Given the description of an element on the screen output the (x, y) to click on. 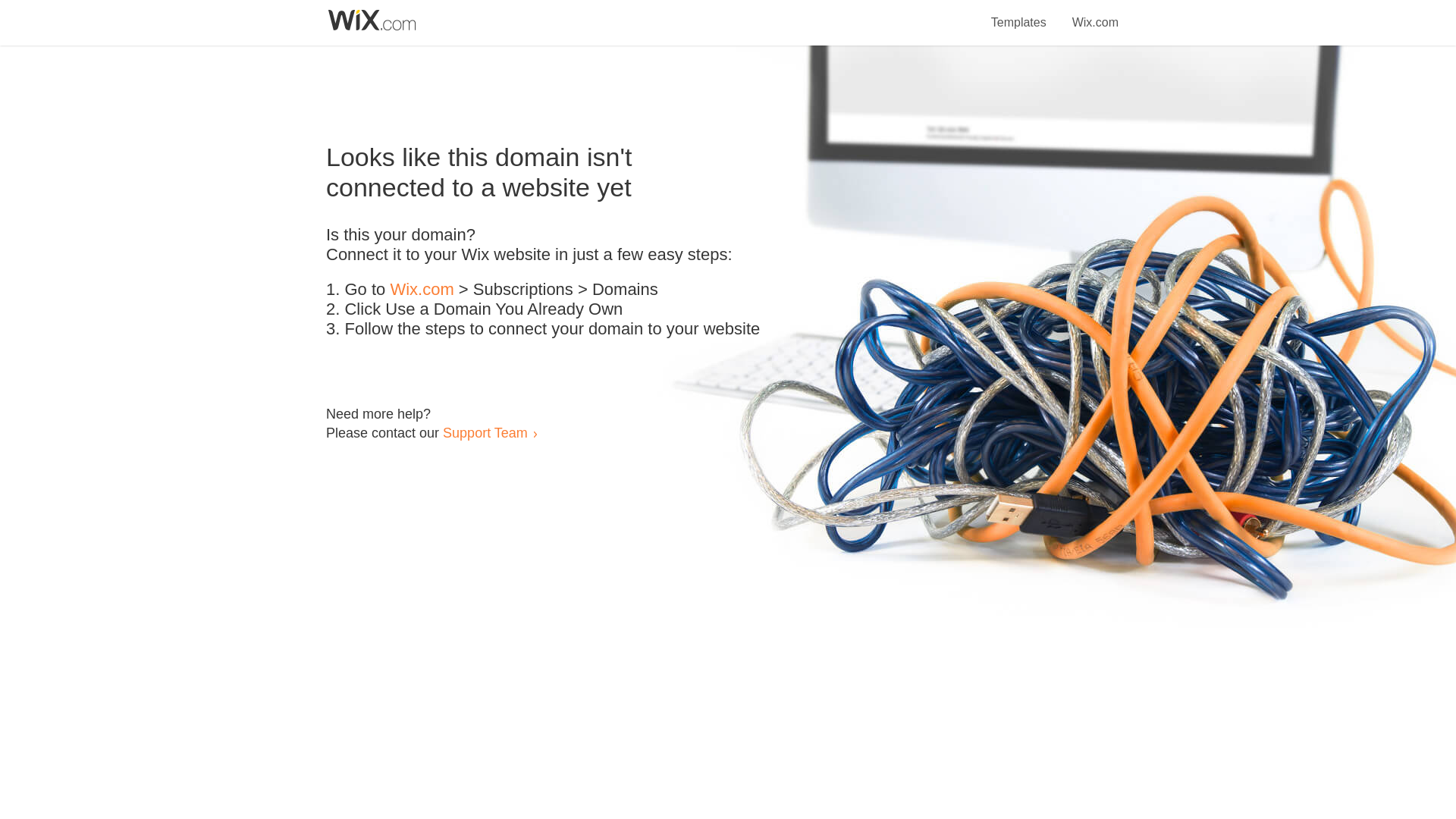
Support Team (484, 432)
Wix.com (1095, 14)
Wix.com (421, 289)
Templates (1018, 14)
